Given the description of an element on the screen output the (x, y) to click on. 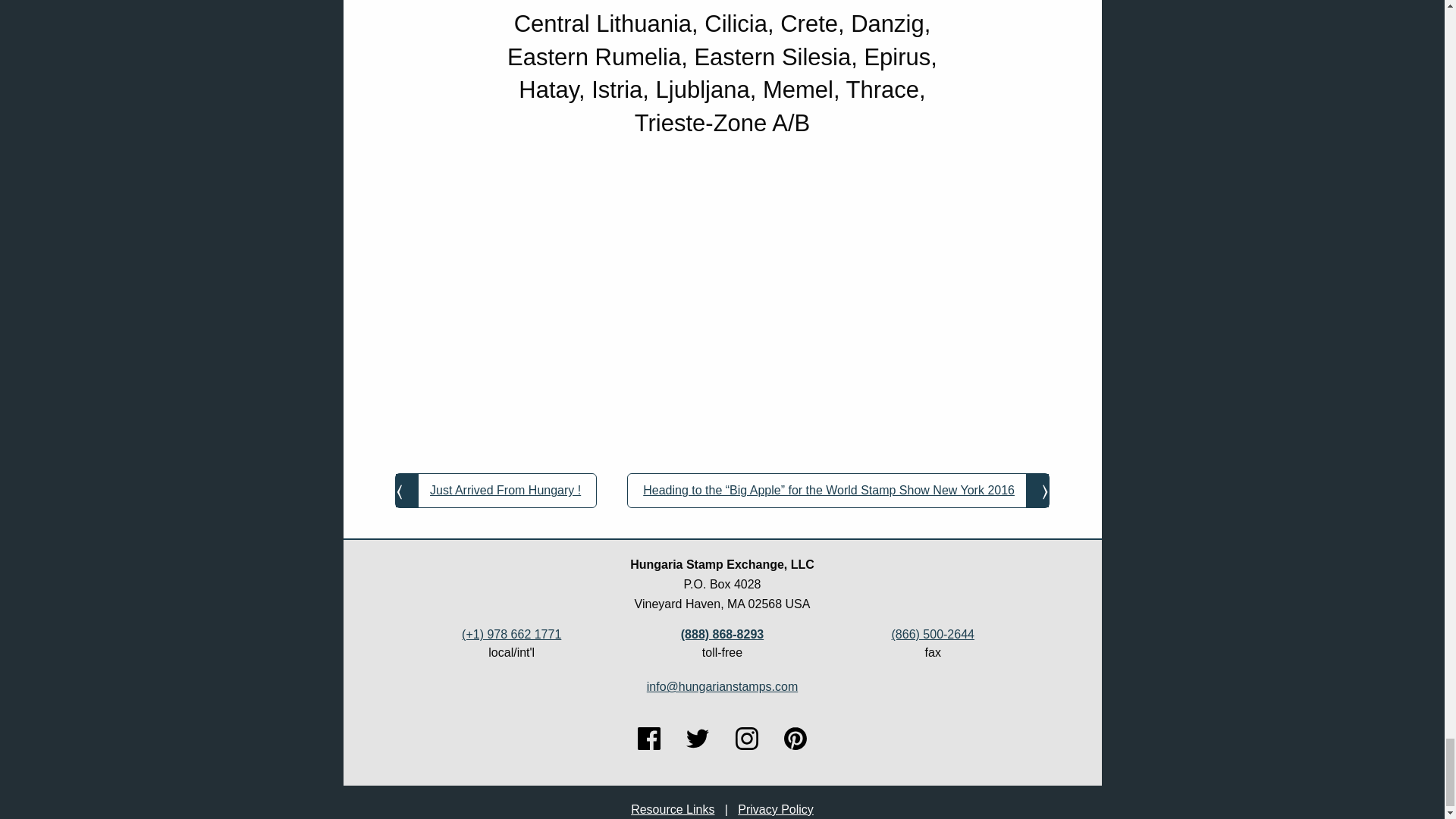
Instagram icon (746, 738)
Facebook icon (649, 738)
Twitter icon (697, 738)
Pinterest icon (795, 738)
